Given the description of an element on the screen output the (x, y) to click on. 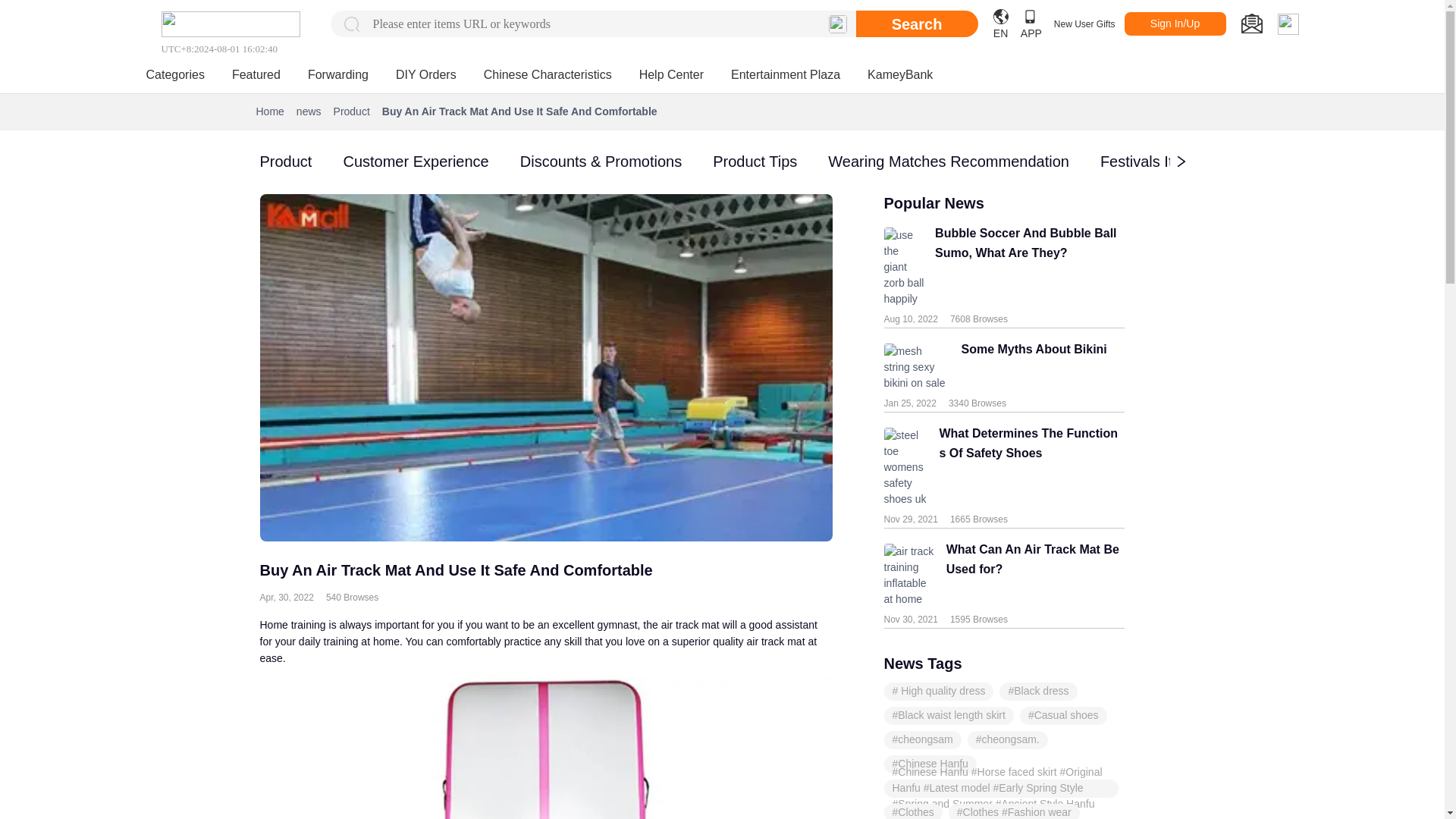
Bubble Soccer And Bubble Ball Sumo, What Are They? (1024, 267)
What Determines The Functions Of Safety Shoes (1026, 466)
Product (351, 111)
DIY Orders (426, 74)
Created with Pixso. (1251, 23)
Product Tips (754, 161)
Festivals Items Special Topics (1200, 161)
Entertainment Plaza (785, 74)
Some Myths About Bikini (1028, 366)
What Can An Air Track Mat Be Used for? (1030, 574)
Chinese Characteristics (547, 74)
news (309, 111)
Home (269, 111)
Product (285, 161)
Wearing Matches Recommendation (948, 161)
